Given the description of an element on the screen output the (x, y) to click on. 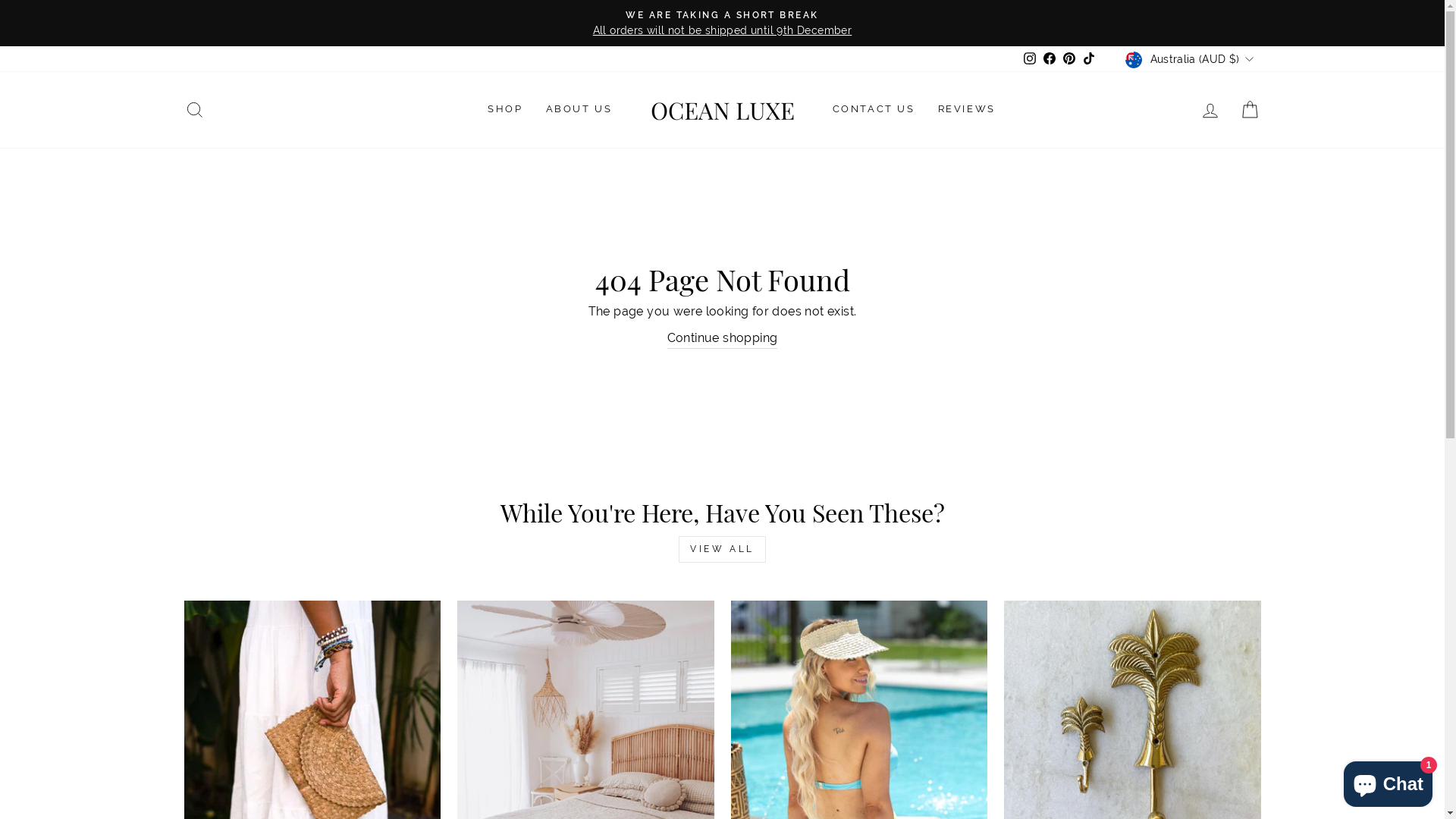
Facebook Element type: text (1049, 59)
Australia (AUD $) Element type: text (1190, 59)
Shopify online store chat Element type: hover (1388, 780)
CART Element type: text (1249, 109)
REVIEWS Element type: text (966, 109)
Continue shopping Element type: text (722, 338)
Pinterest Element type: text (1069, 59)
VIEW ALL Element type: text (721, 549)
Instagram Element type: text (1029, 59)
TikTok Element type: text (1088, 59)
LOG IN Element type: text (1210, 109)
SEARCH Element type: text (193, 109)
SHOP Element type: text (504, 109)
ABOUT US Element type: text (579, 109)
CONTACT US Element type: text (872, 109)
